Given the description of an element on the screen output the (x, y) to click on. 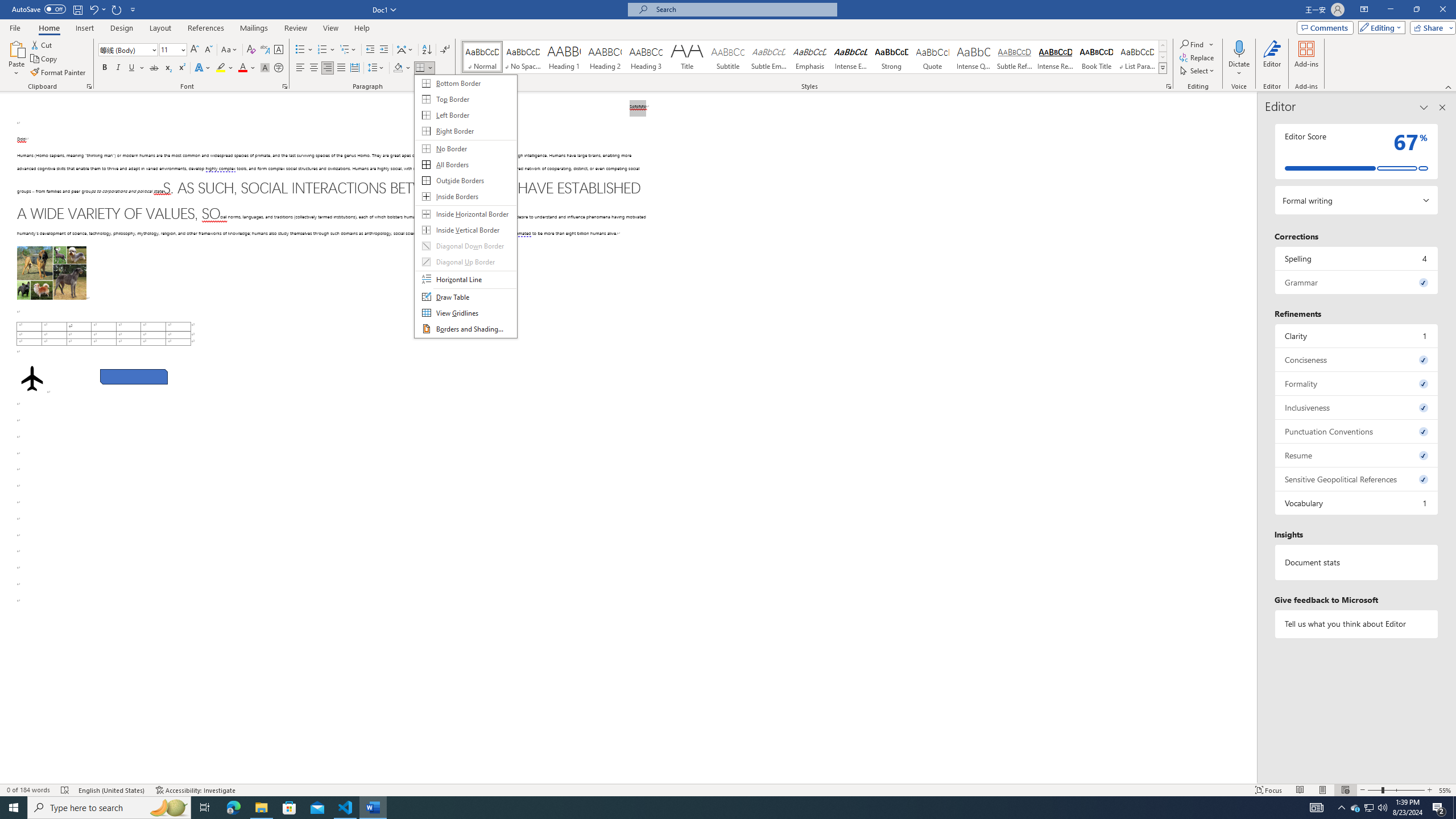
References (205, 28)
Styles... (1168, 85)
Bold (104, 67)
Format Painter (58, 72)
Show desktop (1454, 807)
Layout (160, 28)
Task View (204, 807)
Bullets (304, 49)
Styles (1162, 67)
Text Highlight Color Yellow (220, 67)
Dictate (1238, 58)
More Options (1238, 68)
Heading 1 (564, 56)
Help (361, 28)
